Given the description of an element on the screen output the (x, y) to click on. 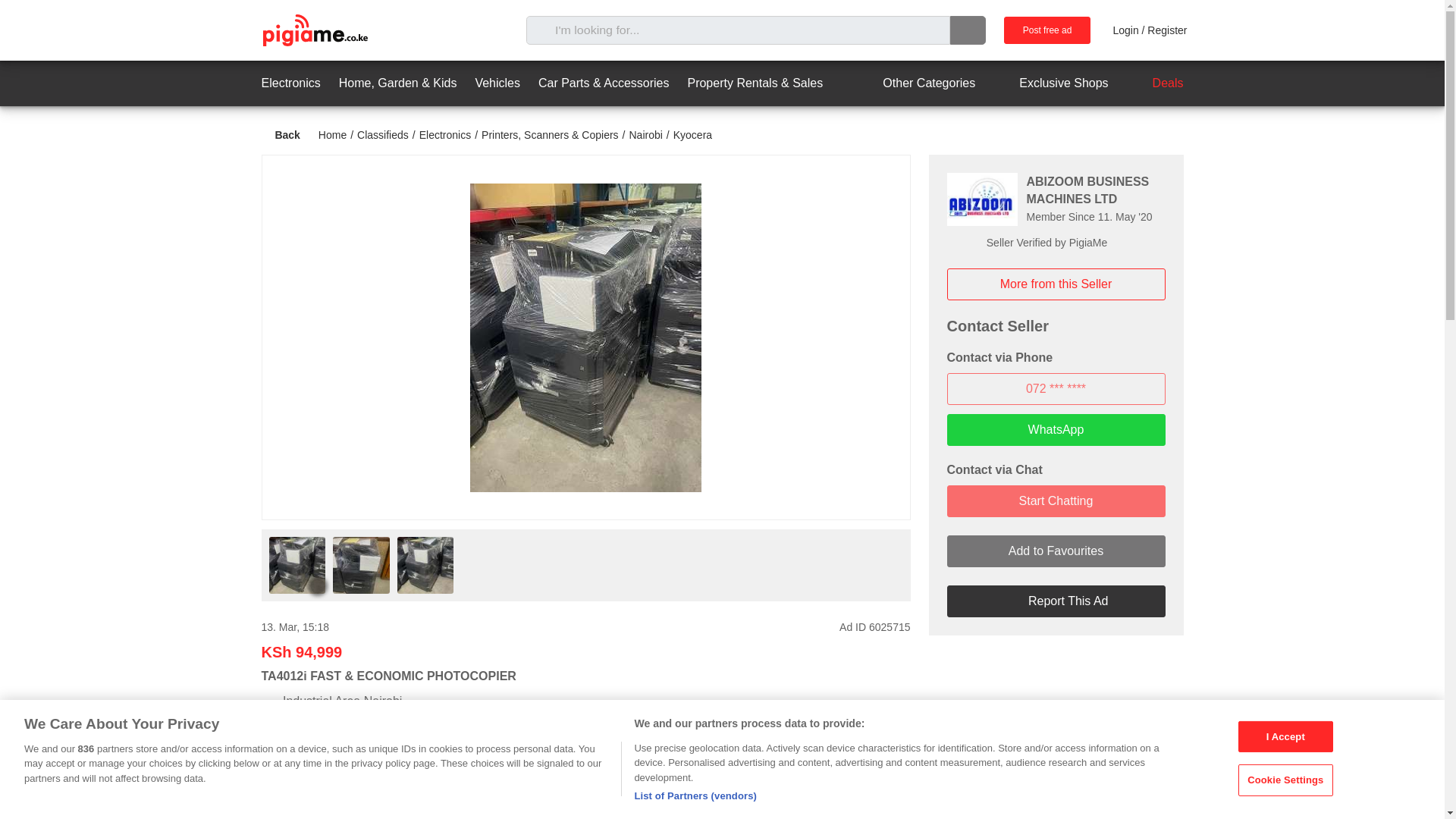
Electronics (290, 83)
Add to Favourites (1055, 551)
Vehicles (497, 83)
Kyocera (691, 134)
Home (332, 134)
PigiaMe (314, 29)
Other Categories (915, 83)
More from this Seller (1055, 284)
Nairobi (645, 134)
Start Chatting (1055, 500)
Exclusive Shops (1050, 83)
Classifieds (382, 134)
Post free ad (1047, 30)
Electronics (444, 134)
Back (279, 134)
